Given the description of an element on the screen output the (x, y) to click on. 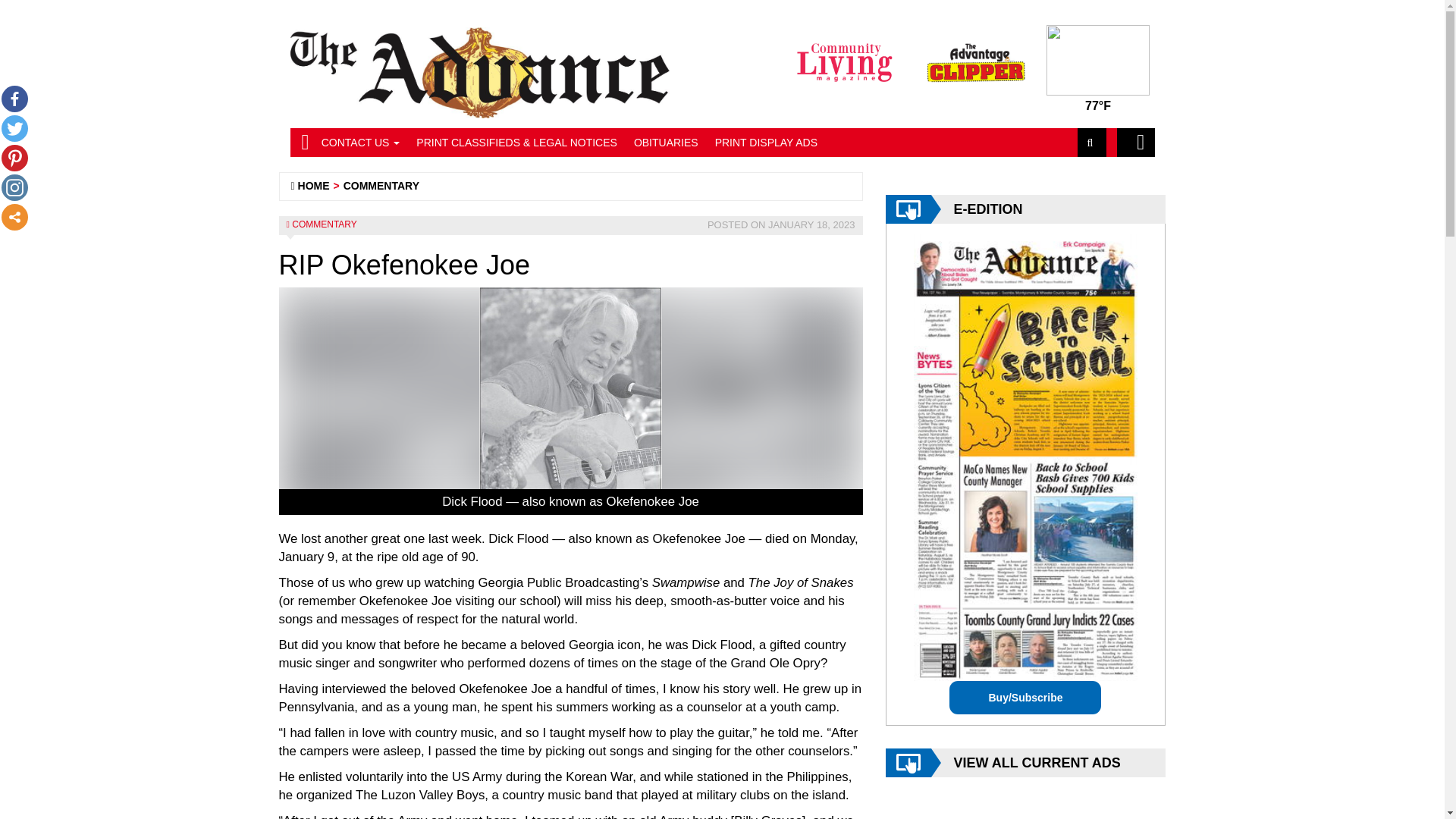
Facebook (14, 98)
OBITUARIES (666, 142)
ALL SECTIONS (1135, 142)
HOME (314, 185)
COMMENTARY (324, 224)
Print Display Ads (765, 142)
The Advance News (314, 185)
Twitter (14, 128)
RIP Okefenokee Joe (571, 401)
PRINT DISPLAY ADS (765, 142)
